Given the description of an element on the screen output the (x, y) to click on. 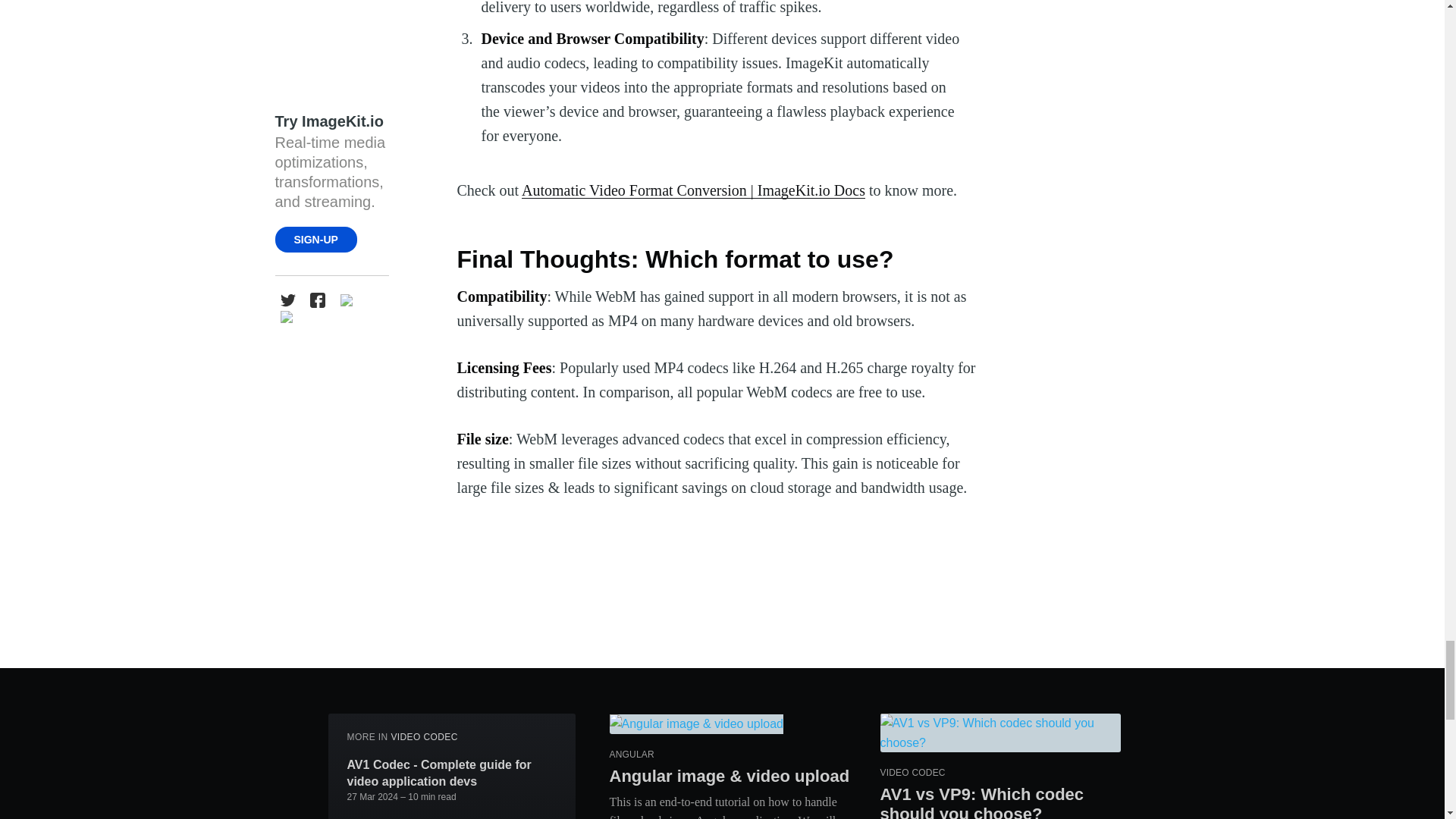
AV1 Codec - Complete guide for video application devs (451, 772)
VIDEO CODEC (423, 737)
